Given the description of an element on the screen output the (x, y) to click on. 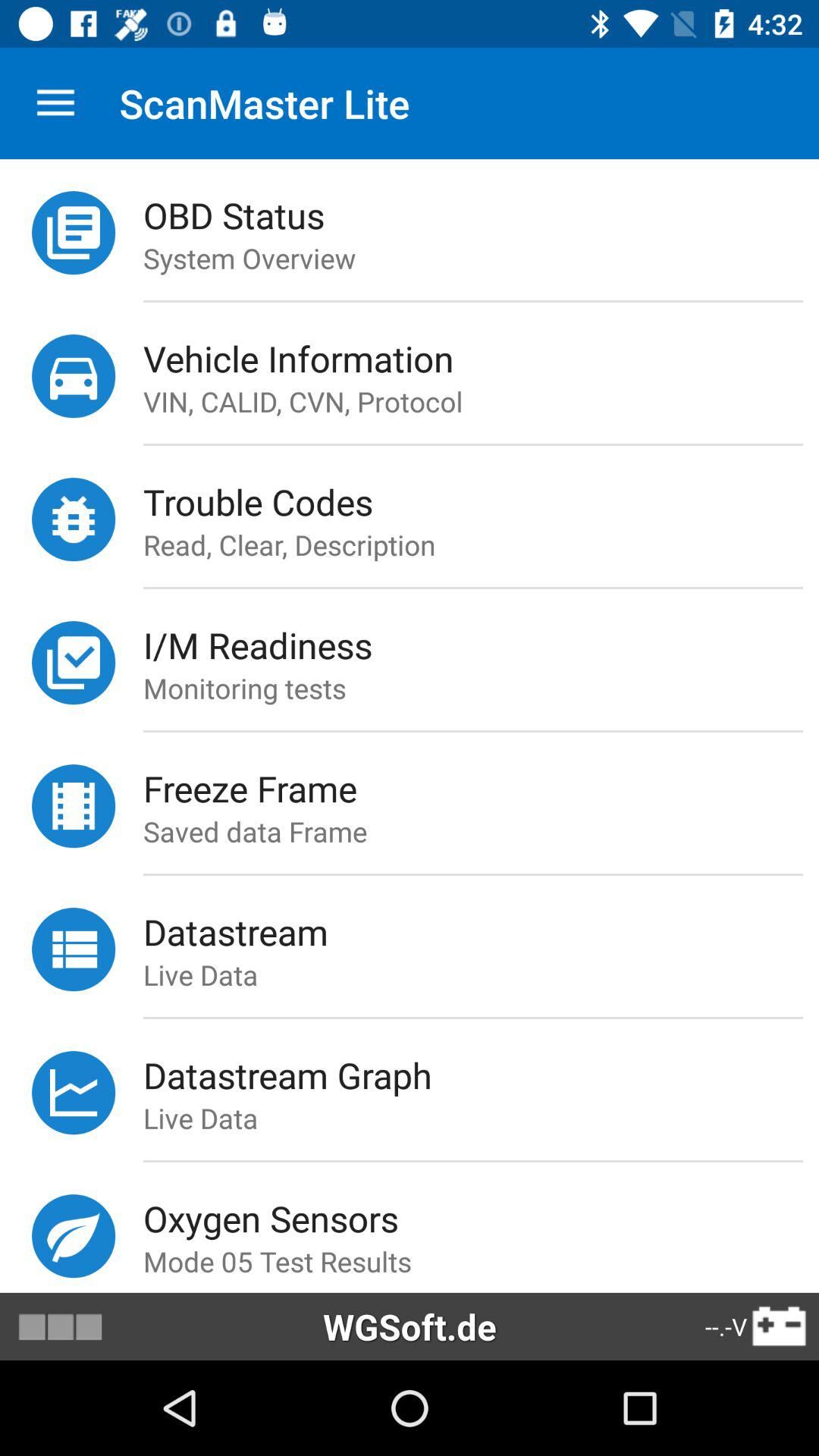
turn off app to the left of the scanmaster lite item (55, 103)
